Given the description of an element on the screen output the (x, y) to click on. 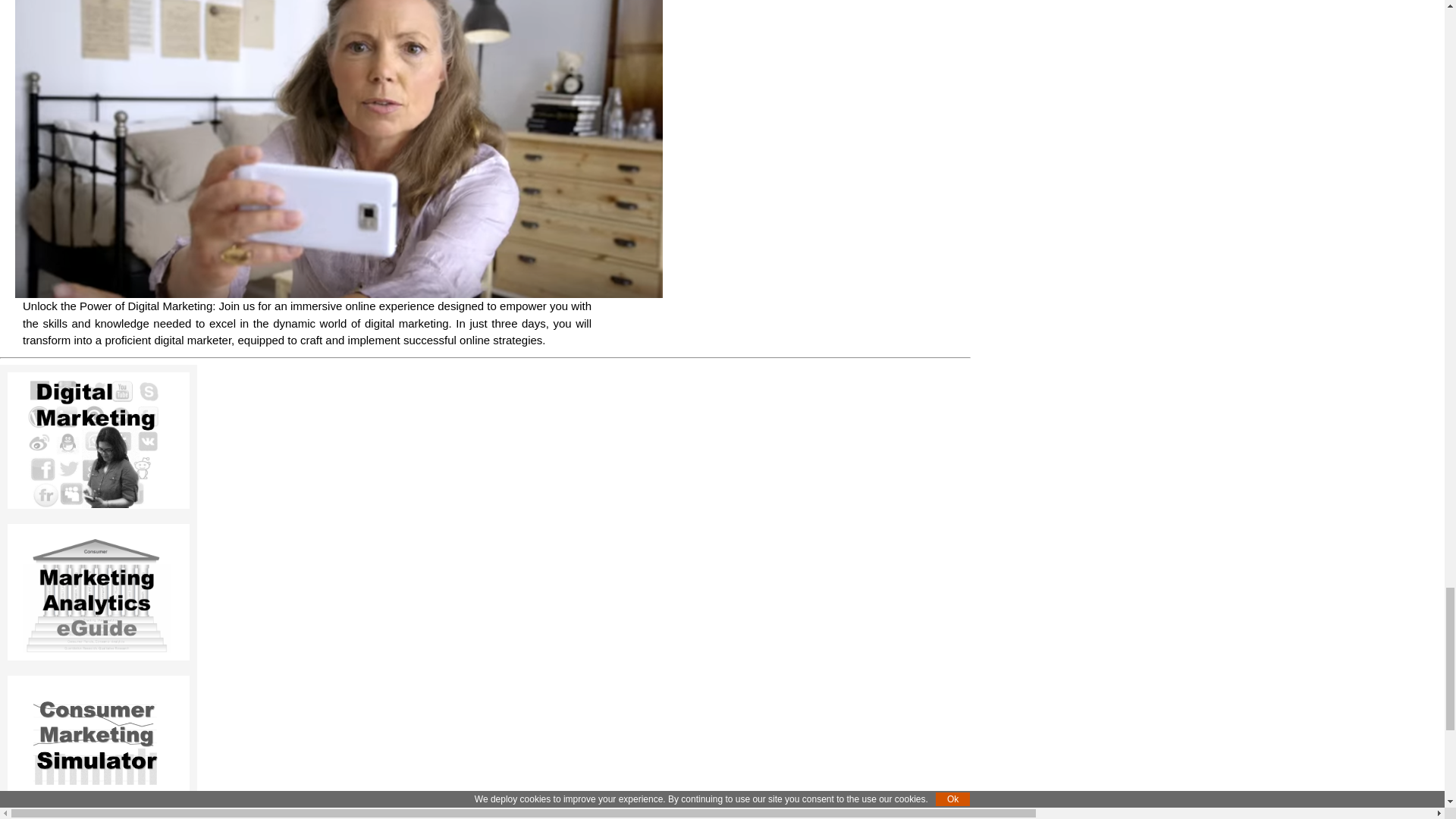
Digital Marketing, Practitioner's Guide to Digital Marketing (98, 439)
